Given the description of an element on the screen output the (x, y) to click on. 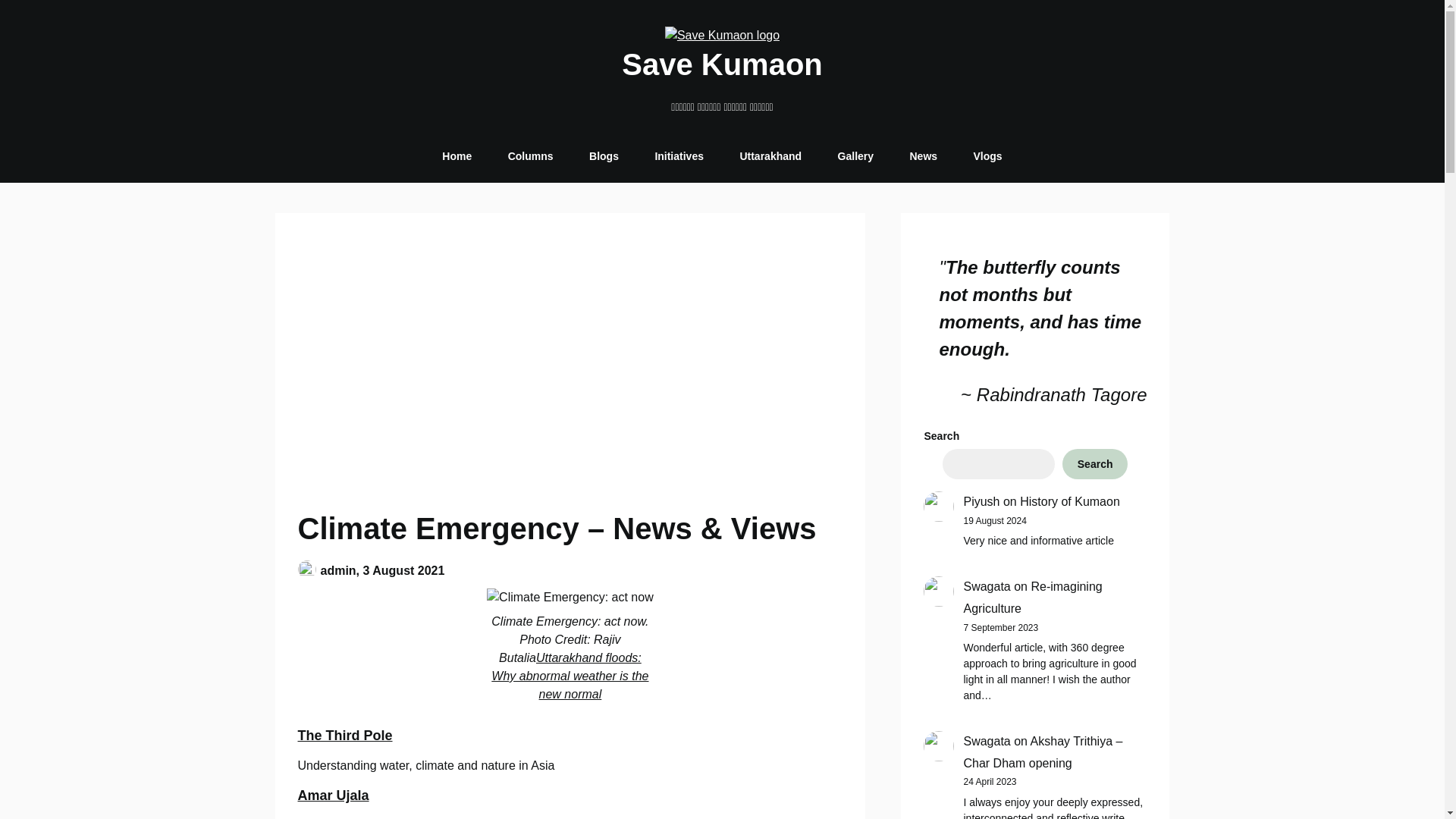
Initiatives (679, 156)
Home (456, 156)
Save Kumaon (722, 64)
Columns (531, 156)
Blogs (603, 156)
